Given the description of an element on the screen output the (x, y) to click on. 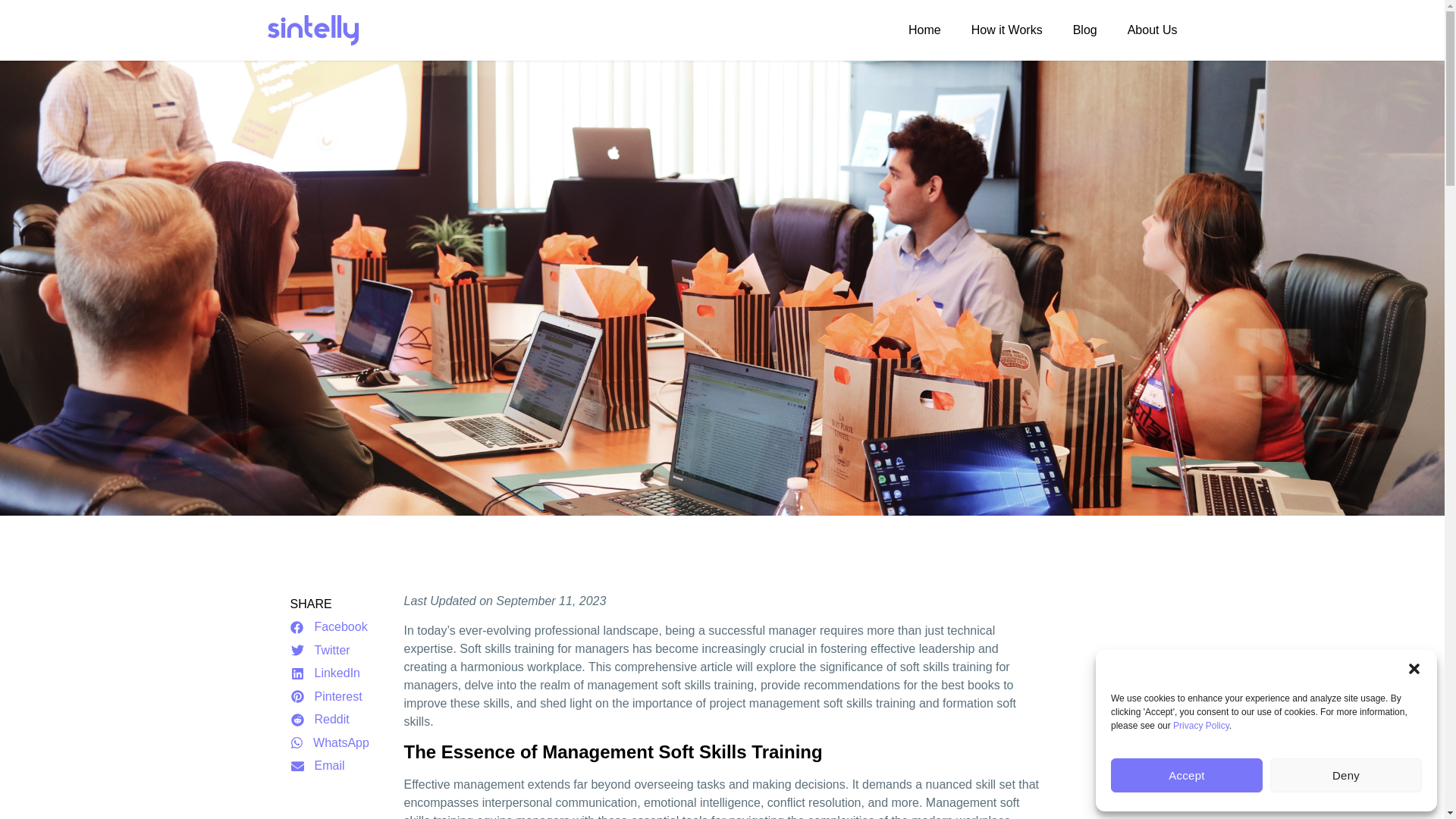
Accept (1186, 775)
How it Works (1006, 29)
Home (924, 29)
Privacy Policy (1200, 725)
Deny (1345, 775)
About Us (1151, 29)
